Given the description of an element on the screen output the (x, y) to click on. 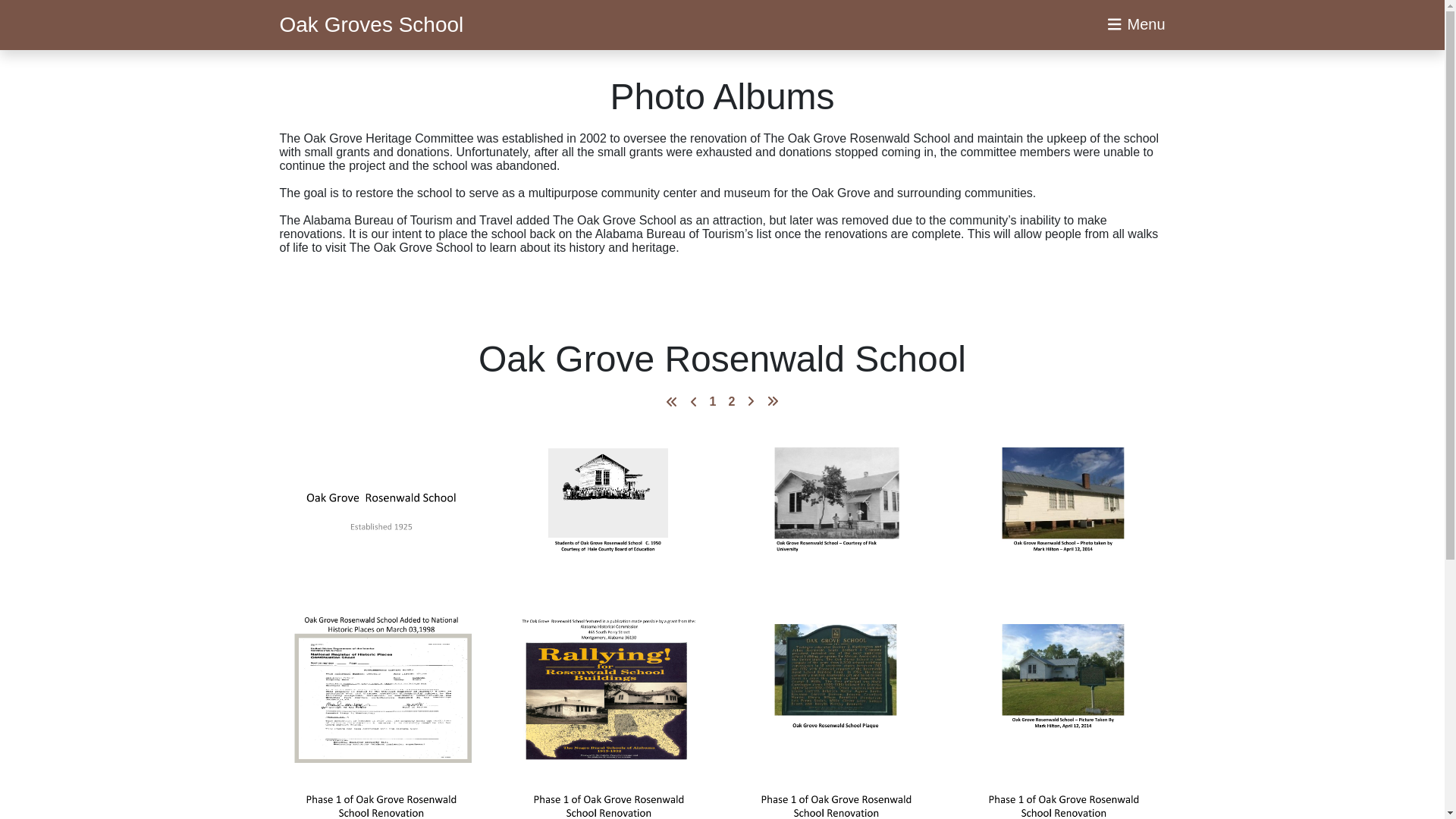
Oak Groves School (371, 24)
Oak Groves School  (371, 24)
Menu (1137, 23)
